Given the description of an element on the screen output the (x, y) to click on. 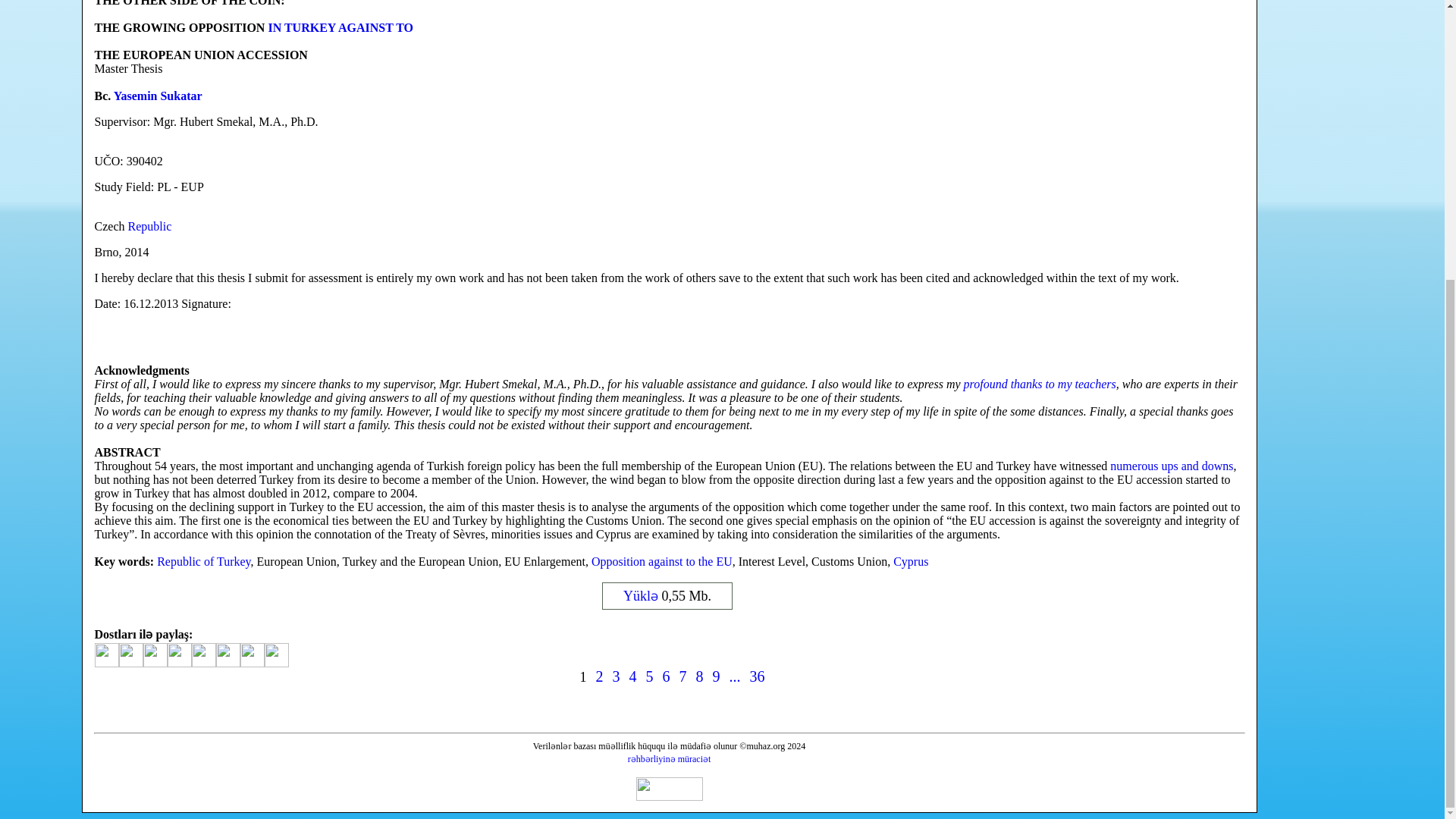
numerous ups and downs (1171, 465)
Opposition against to the EU (661, 561)
Yasemin Sukatar (157, 95)
Republic (149, 226)
Republic of Turkey (203, 561)
Cyprus (910, 561)
IN TURKEY AGAINST TO (340, 27)
profound thanks to my teachers (1039, 383)
